Given the description of an element on the screen output the (x, y) to click on. 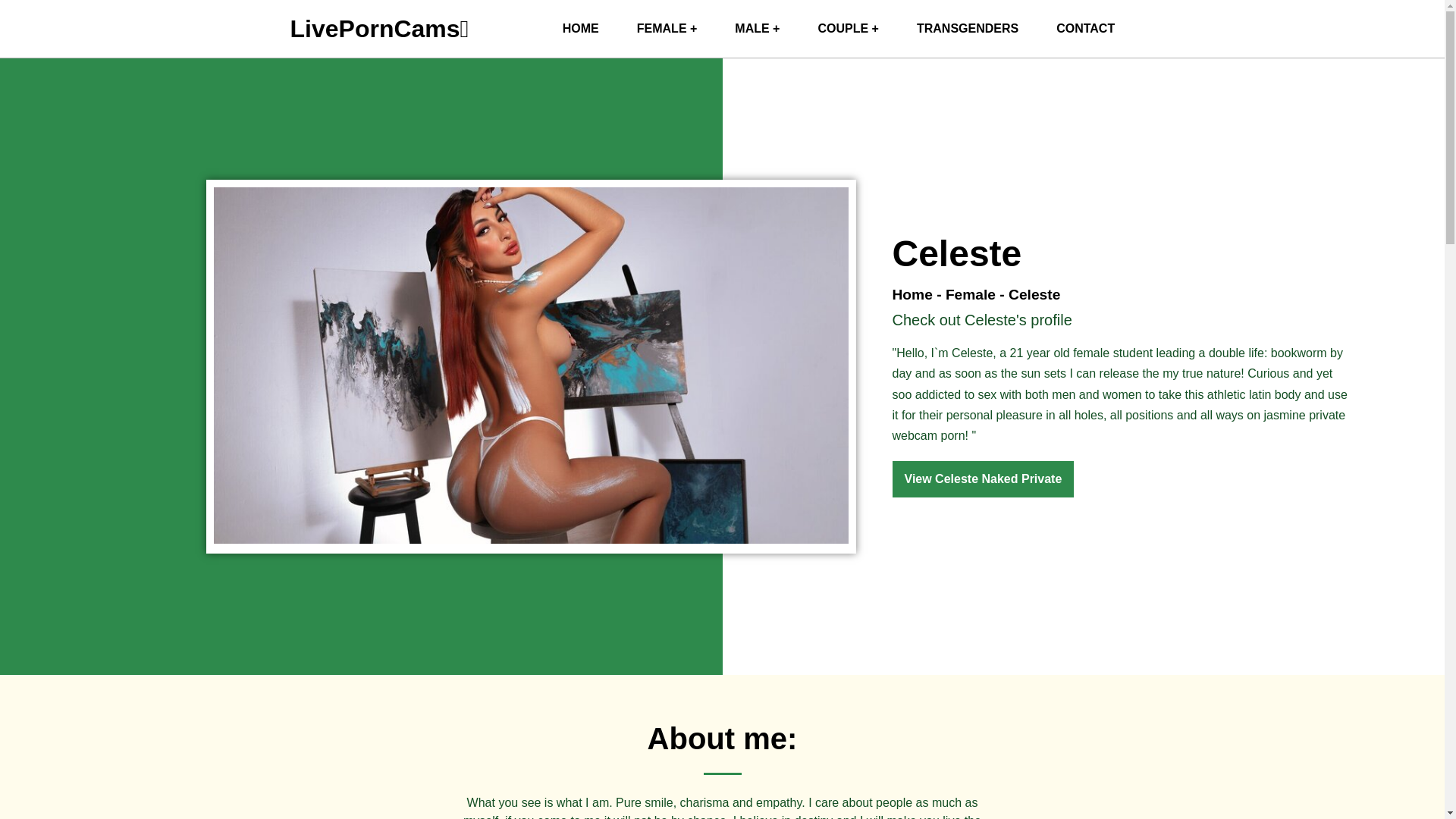
View Celeste Naked Private (982, 479)
Home (911, 294)
Female (969, 294)
Transgenders (967, 28)
CONTACT (1086, 28)
HOME (580, 28)
LivePornCams? (378, 28)
TRANSGENDERS (967, 28)
LivePornCams? (580, 28)
Contact (1086, 28)
